Given the description of an element on the screen output the (x, y) to click on. 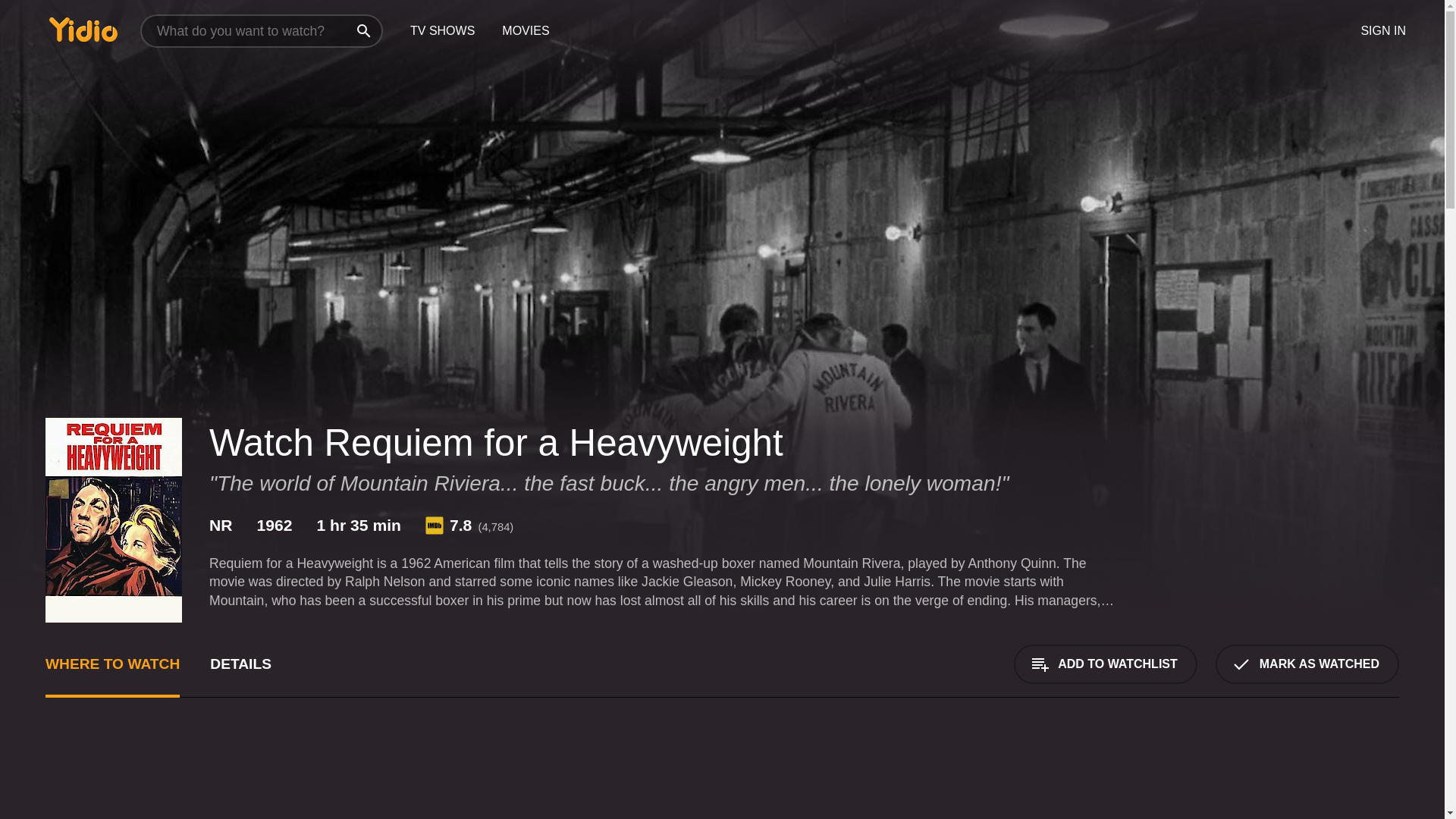
Advertisement (500, 776)
TV SHOWS (441, 31)
Advertisement (1285, 776)
MOVIES (524, 31)
ADD TO WATCHLIST (1104, 663)
Yidio (82, 29)
MARK AS WATCHED (1307, 663)
